Given the description of an element on the screen output the (x, y) to click on. 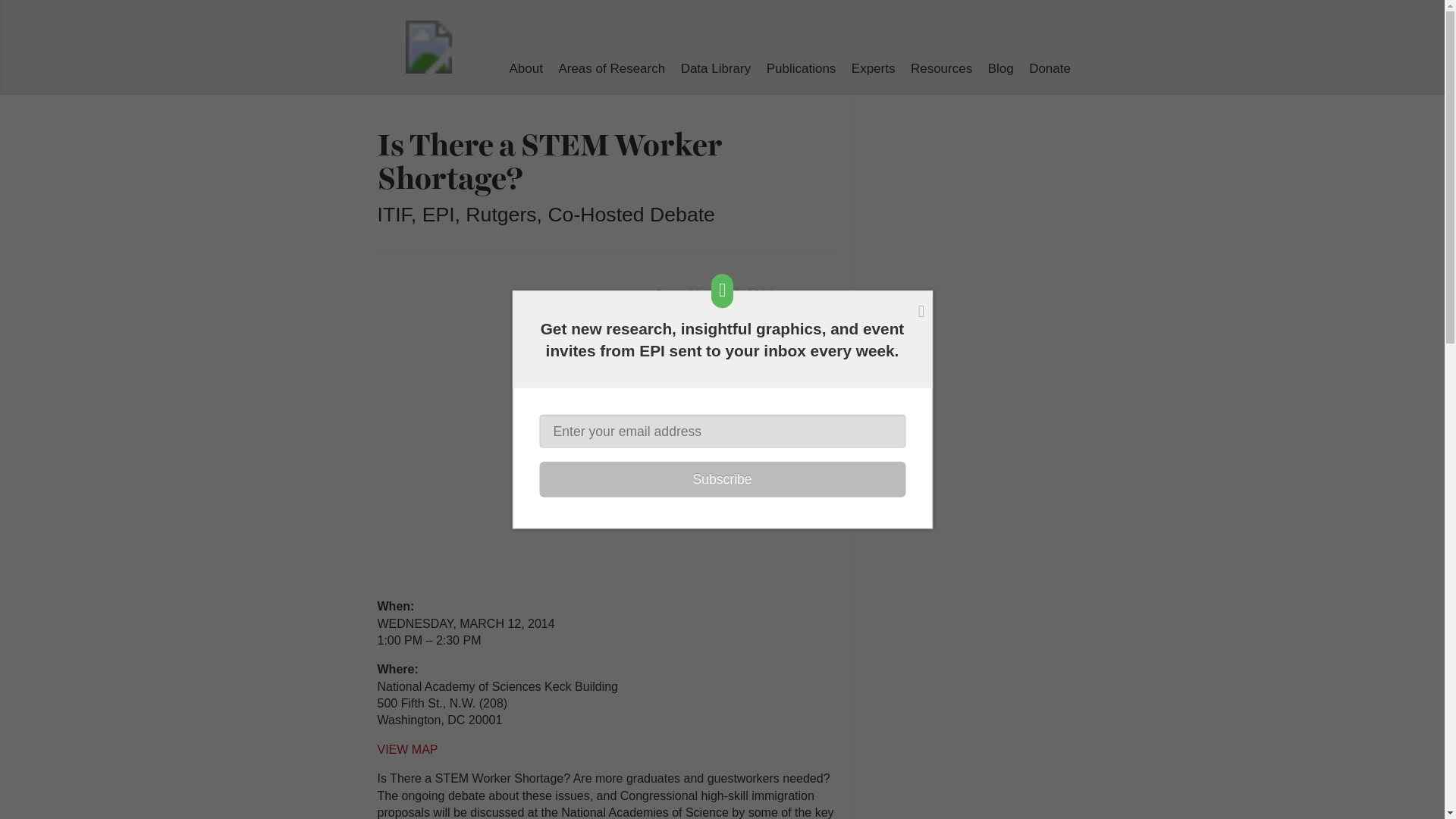
Areas of Research (611, 68)
Resources (941, 68)
Publications (801, 68)
Experts (873, 68)
Data Library (716, 68)
About (526, 68)
